Given the description of an element on the screen output the (x, y) to click on. 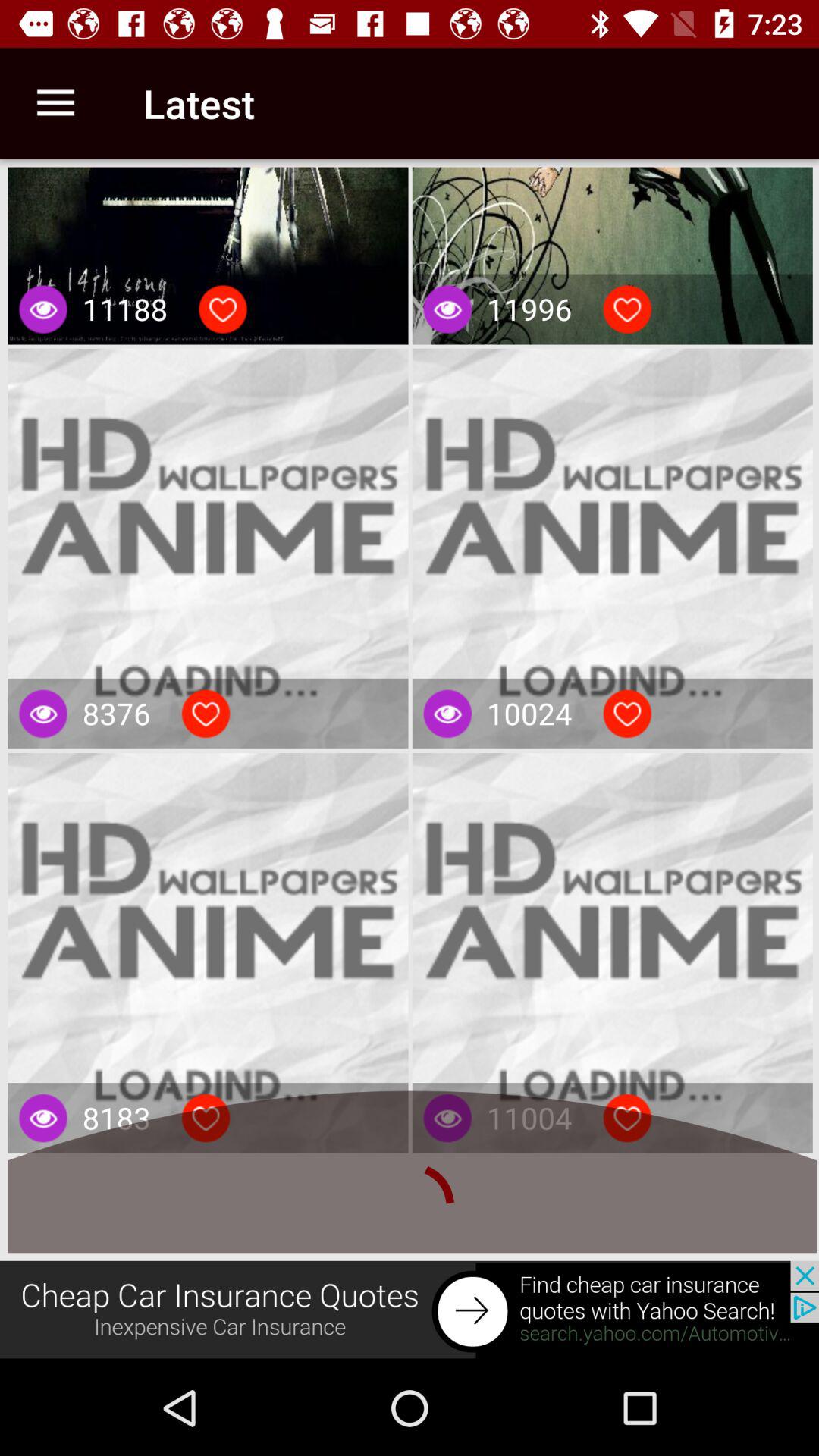
like this (205, 1118)
